Given the description of an element on the screen output the (x, y) to click on. 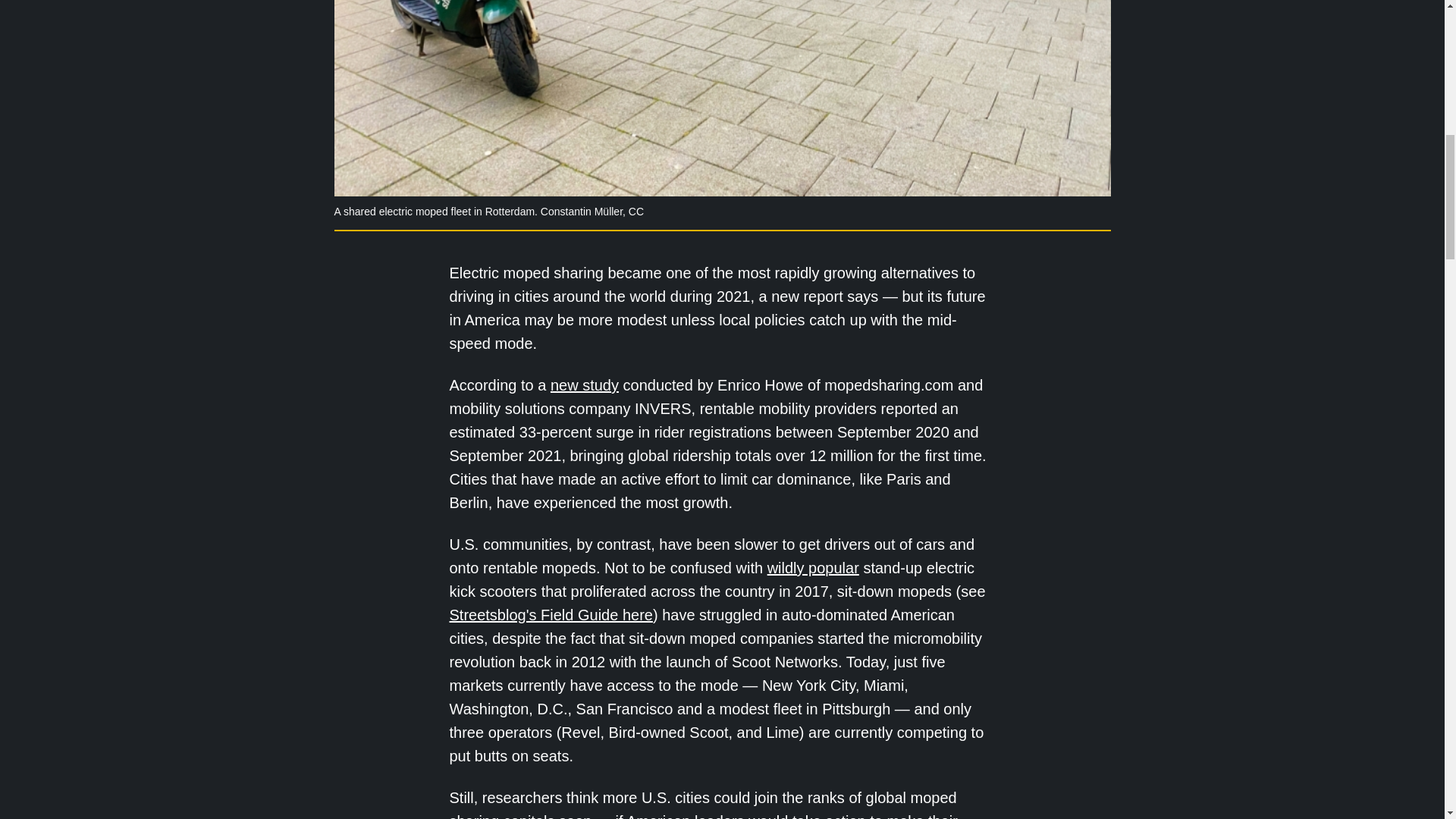
Streetsblog's Field Guide here (550, 614)
wildly popular (813, 567)
new study (584, 384)
